Given the description of an element on the screen output the (x, y) to click on. 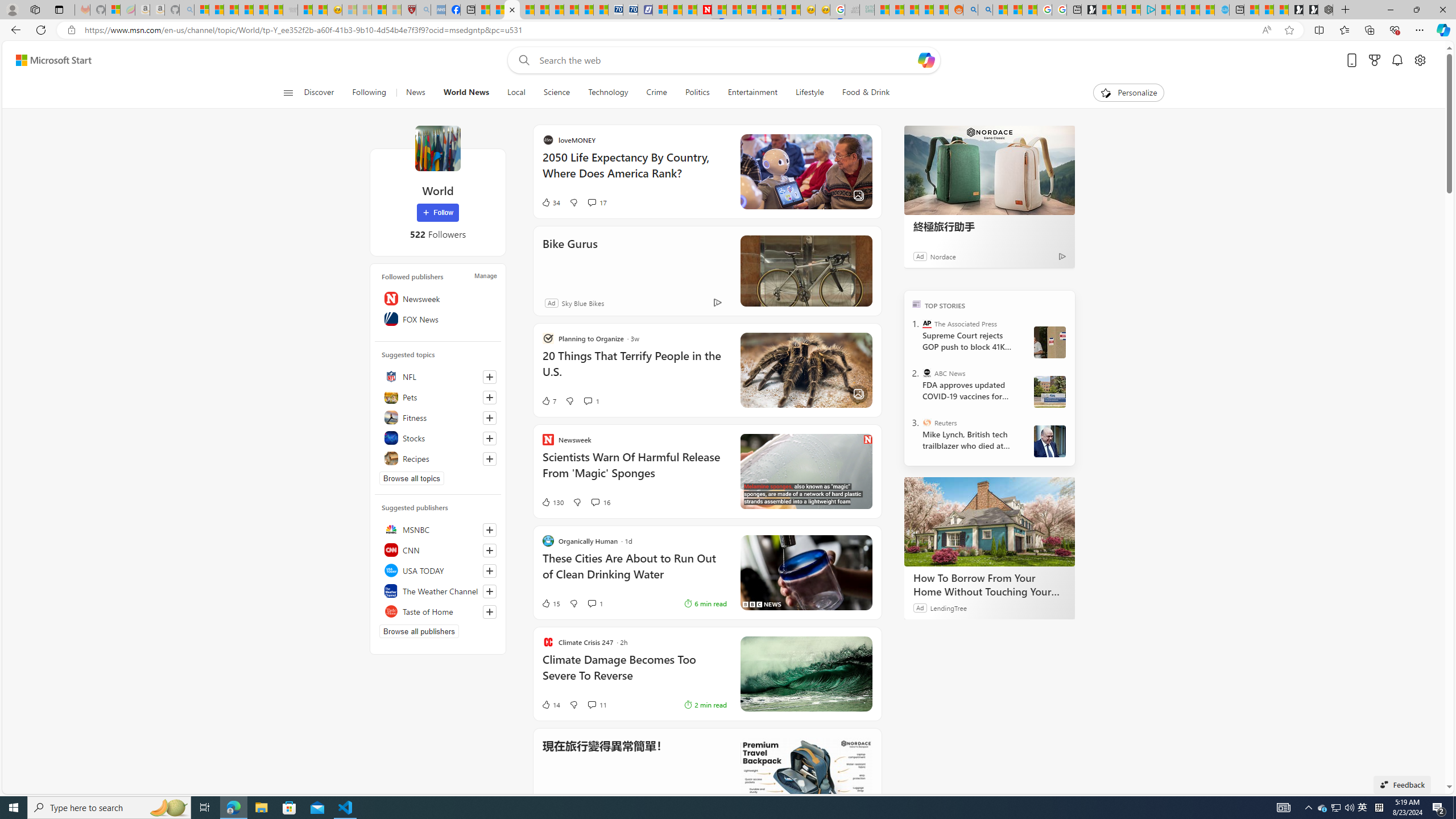
The Weather Channel (437, 590)
View comments 11 Comment (596, 704)
Sky Blue Bikes (583, 302)
